Given the description of an element on the screen output the (x, y) to click on. 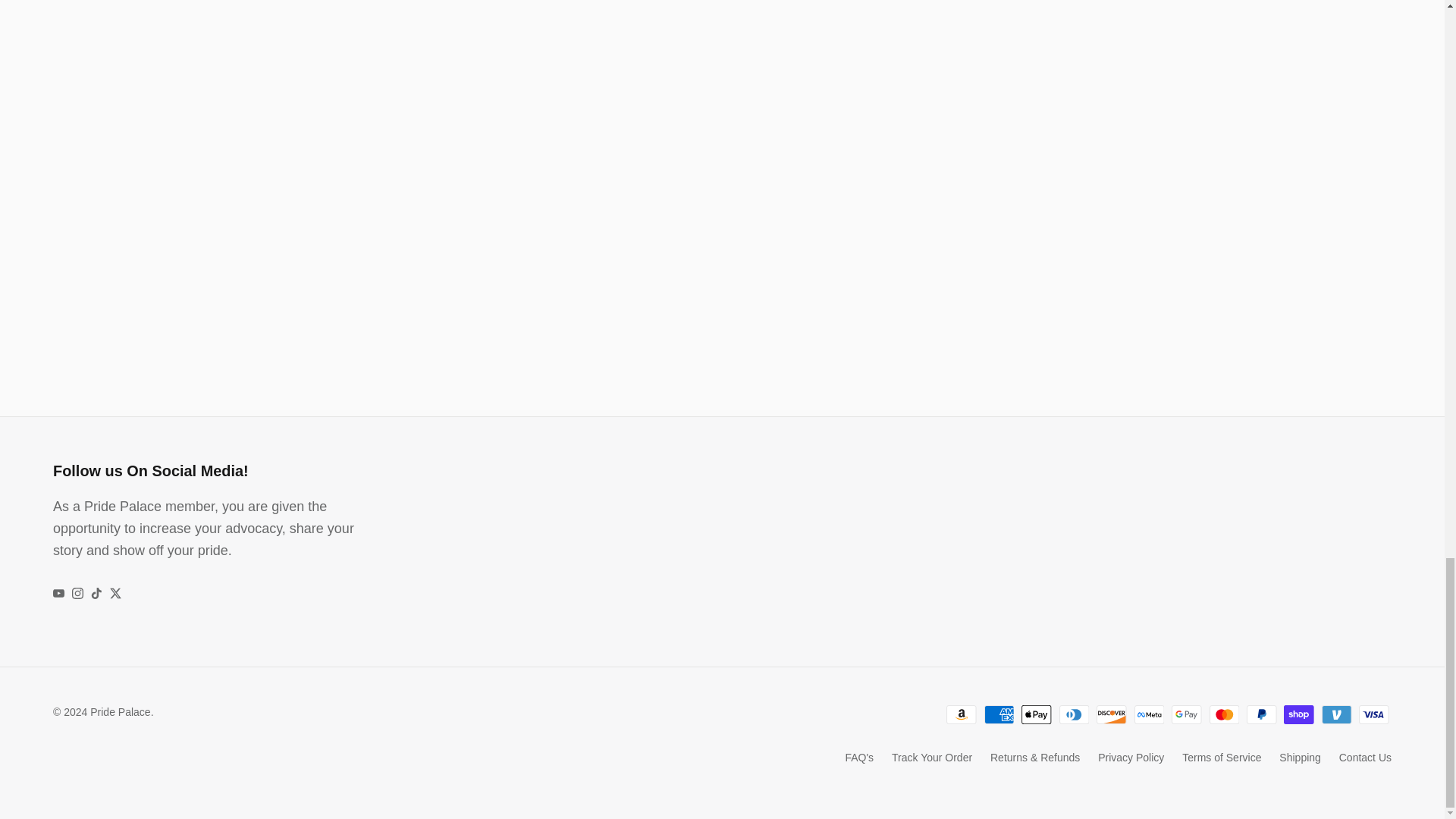
Apple Pay (1036, 714)
Mastercard (1224, 714)
Pride Palace on TikTok (95, 593)
PayPal (1261, 714)
Discover (1111, 714)
Pride Palace on YouTube (58, 593)
American Express (999, 714)
Pride Palace on Twitter (115, 593)
Amazon (961, 714)
Meta Pay (1149, 714)
Pride Palace on Instagram (76, 593)
Google Pay (1186, 714)
Diners Club (1074, 714)
